Given the description of an element on the screen output the (x, y) to click on. 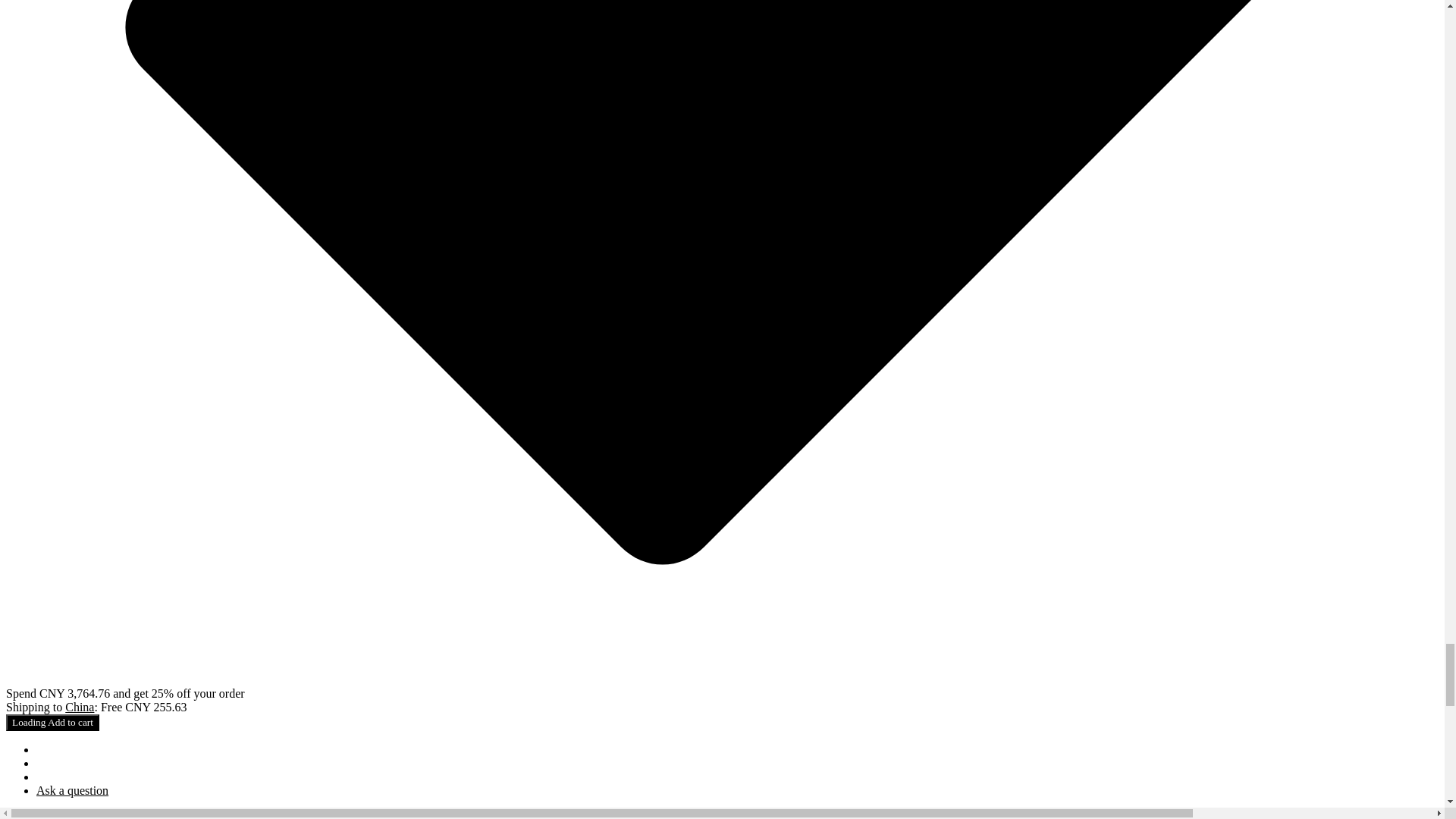
Loading Add to cart (52, 722)
China (79, 707)
Ask a question (71, 789)
